Given the description of an element on the screen output the (x, y) to click on. 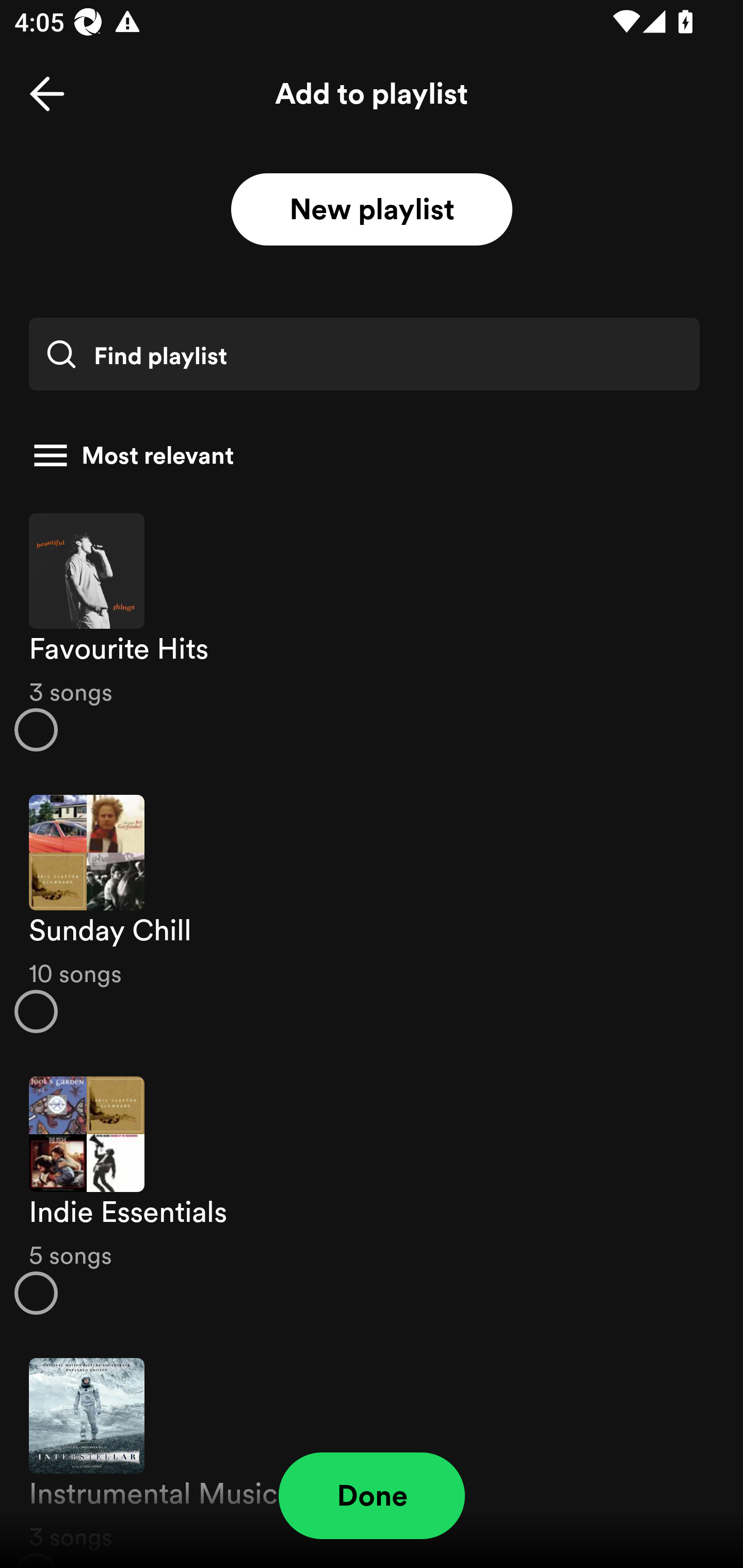
Back (46, 93)
New playlist (371, 210)
Find playlist (363, 354)
Most relevant (363, 455)
Favourite Hits 3 songs (371, 631)
Sunday Chill 10 songs (371, 914)
Indie Essentials 5 songs (371, 1195)
Instrumental Music 3 songs (371, 1451)
Done (371, 1495)
